Given the description of an element on the screen output the (x, y) to click on. 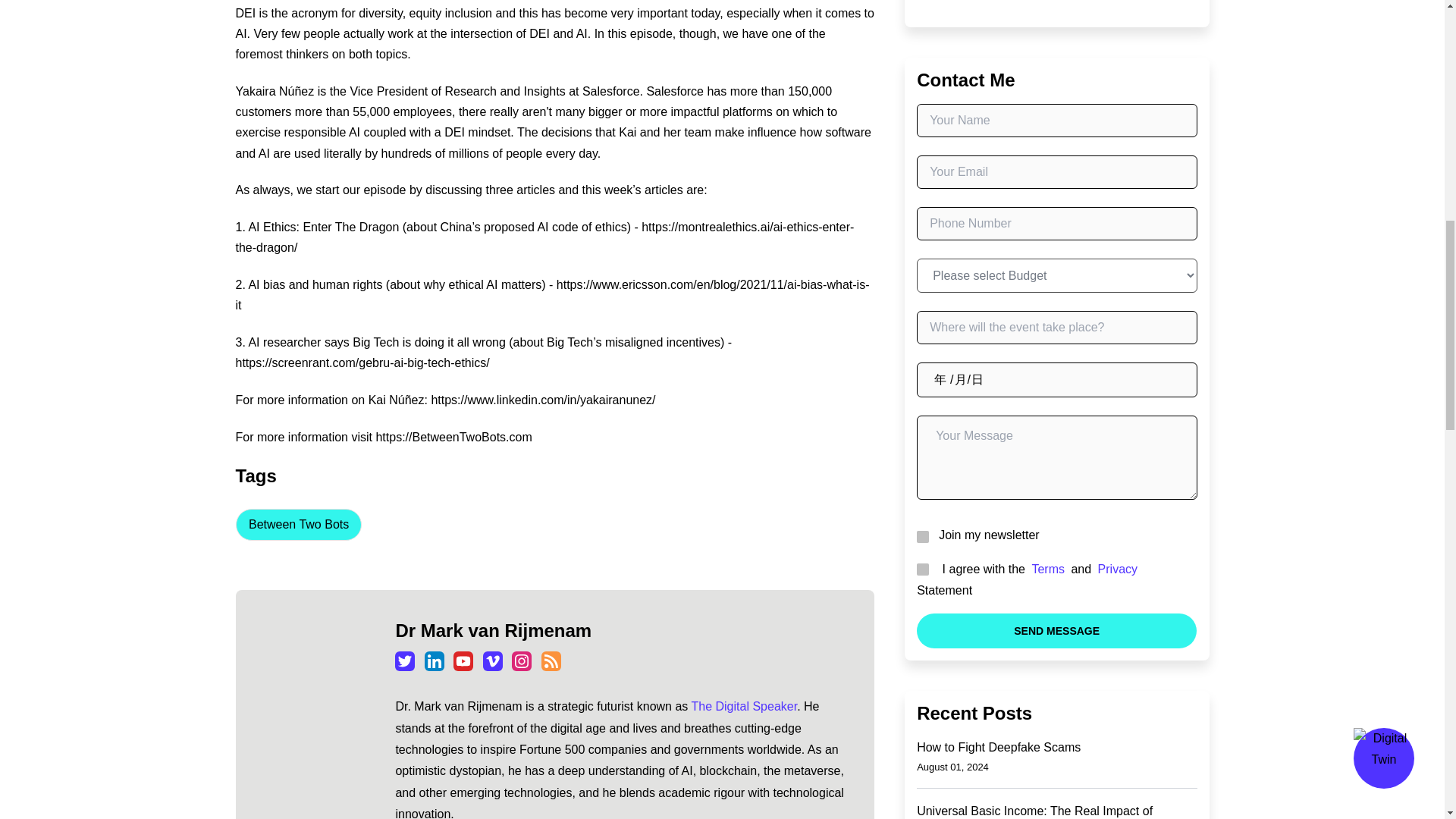
Between Two Bots (297, 524)
Yes (921, 568)
Twitter (404, 660)
Linkedin (434, 660)
Yes (921, 535)
